Given the description of an element on the screen output the (x, y) to click on. 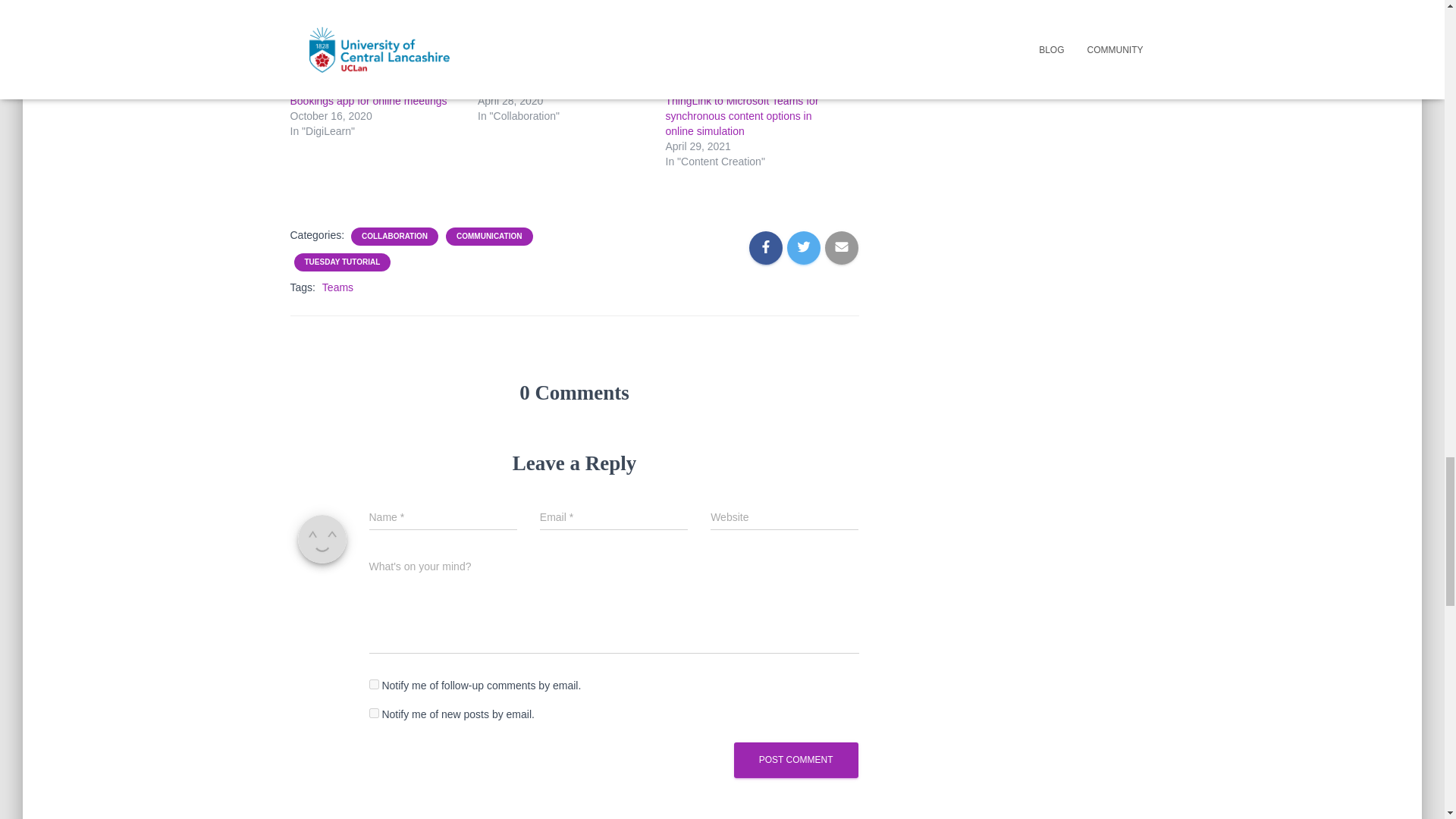
COLLABORATION (394, 235)
Microsoft Teams: Time to focus! (552, 85)
Post Comment (796, 760)
TUESDAY TUTORIAL (341, 262)
subscribe (373, 684)
Teams (337, 287)
subscribe (373, 713)
Microsoft Teams: Time to focus! (552, 85)
COMMUNICATION (488, 235)
Post Comment (796, 760)
